Given the description of an element on the screen output the (x, y) to click on. 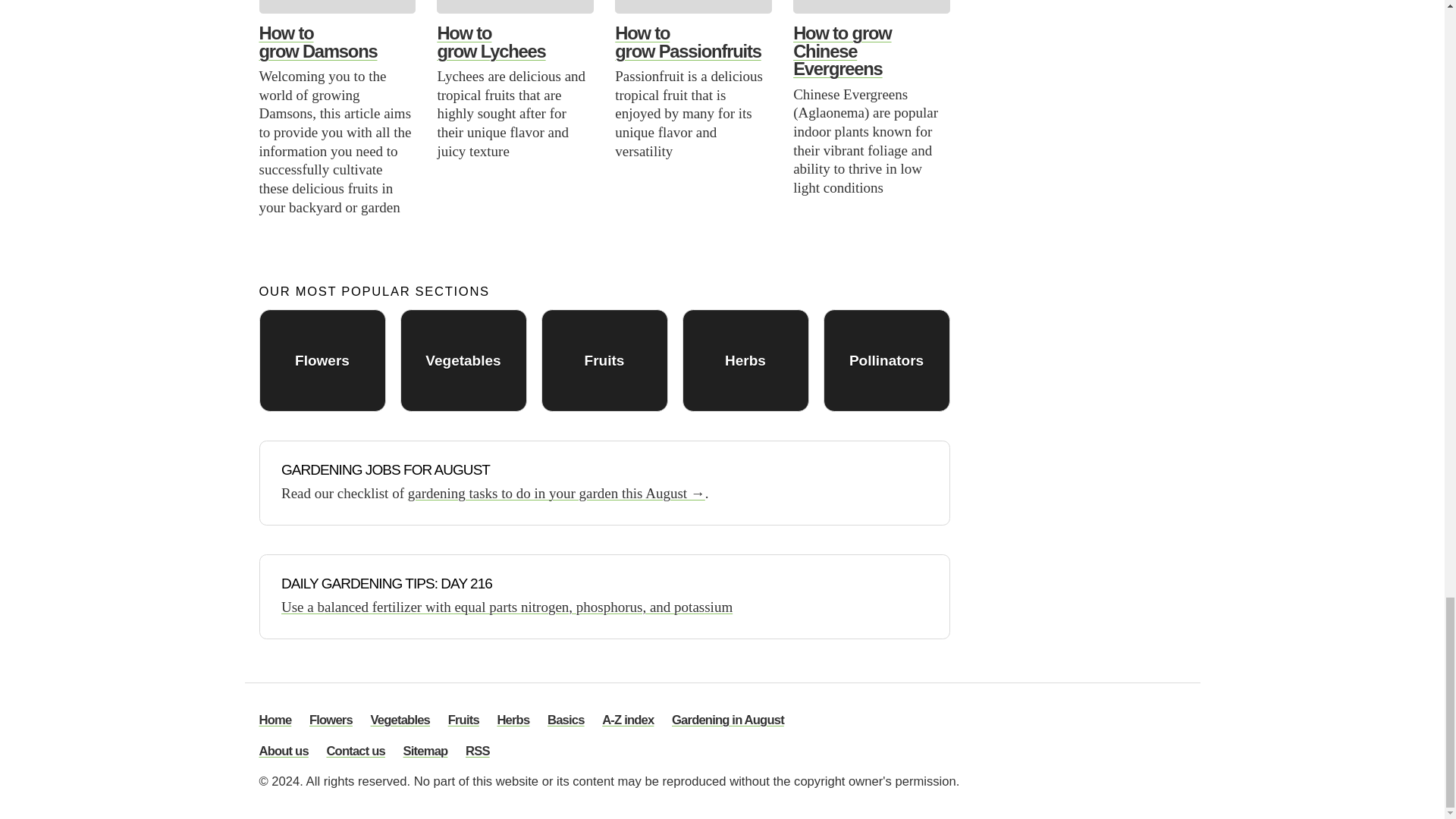
Pollinators (887, 360)
How to grow Chinese Evergreens (842, 50)
How to grow Damsons (318, 41)
Fruits (604, 360)
Herbs (745, 360)
How to grow Lychees (490, 41)
Flowers (322, 360)
Vegetables (463, 360)
How to grow Passionfruits (687, 41)
